Given the description of an element on the screen output the (x, y) to click on. 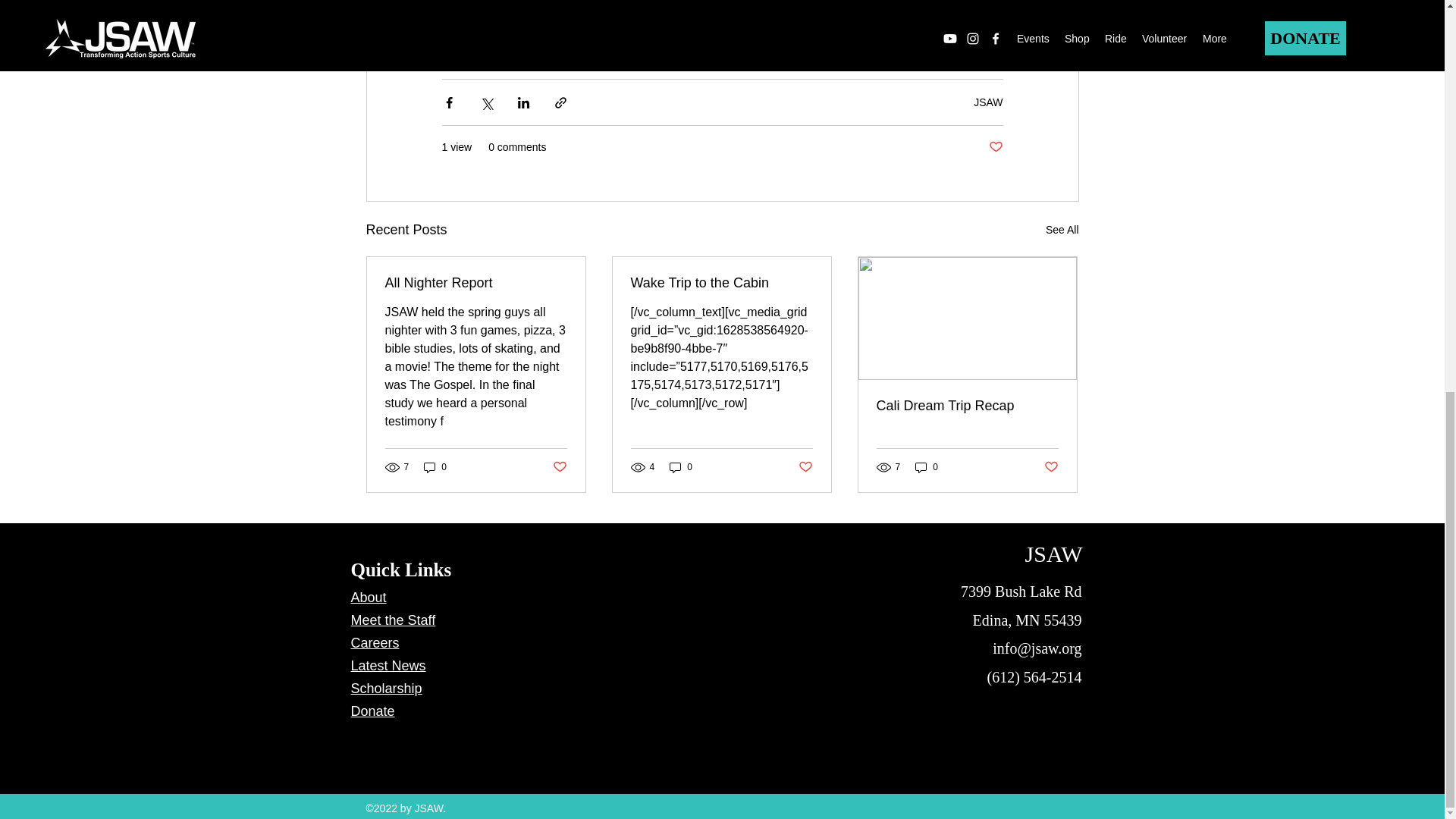
0 (681, 466)
Post not marked as liked (995, 147)
JSAW (988, 101)
All Nighter Report (476, 283)
0 (435, 466)
Wake Trip to the Cabin (721, 283)
See All (1061, 229)
Post not marked as liked (558, 467)
